Given the description of an element on the screen output the (x, y) to click on. 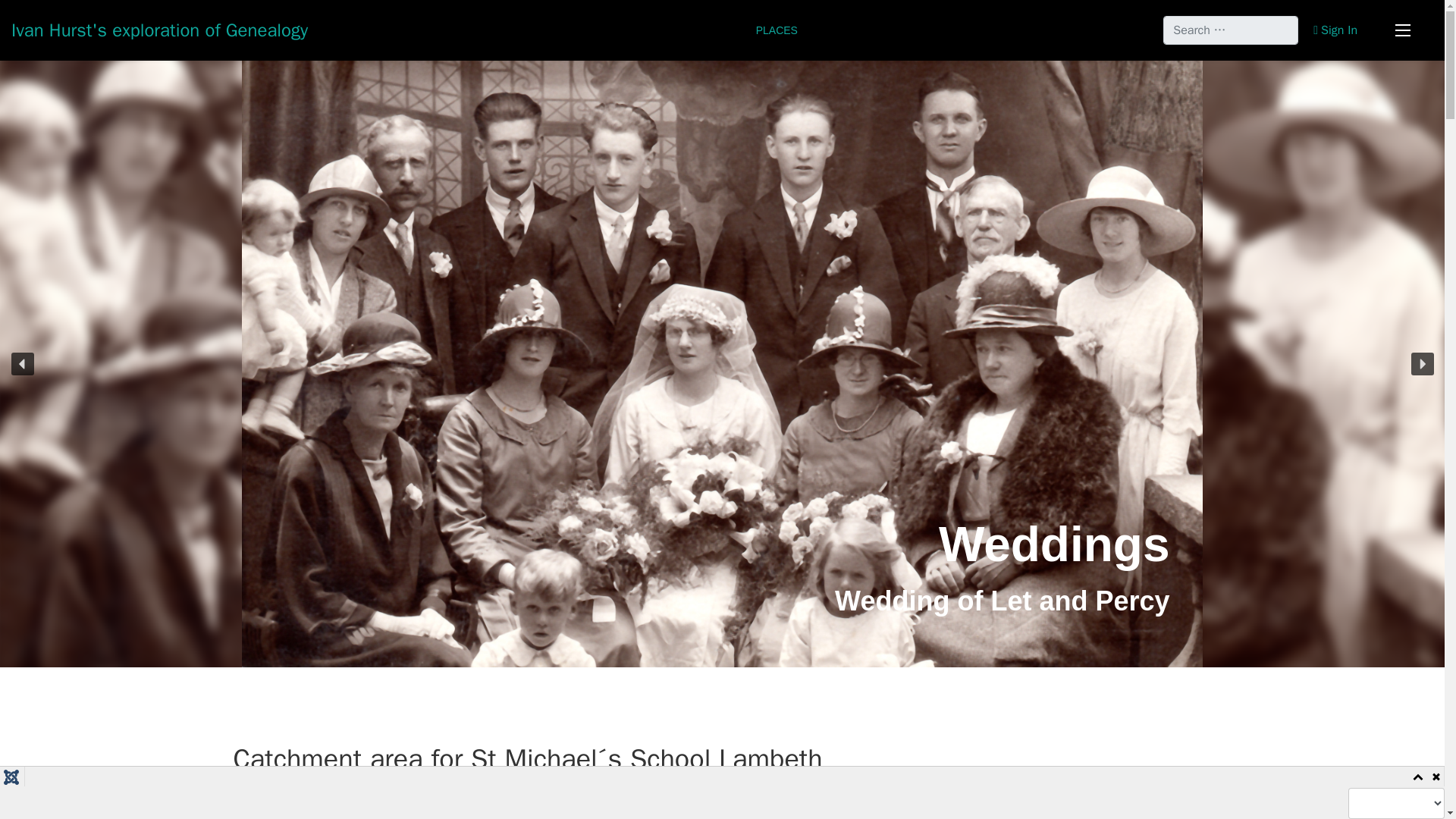
Menu (1402, 30)
Sign In (1334, 29)
INTRO (906, 30)
HISTORY (844, 30)
Ivan Hurst's exploration of Genealogy (159, 30)
TNG SITE (970, 30)
Places (315, 799)
SEARCH (1116, 30)
HOME (564, 30)
FEATURES (630, 30)
